Given the description of an element on the screen output the (x, y) to click on. 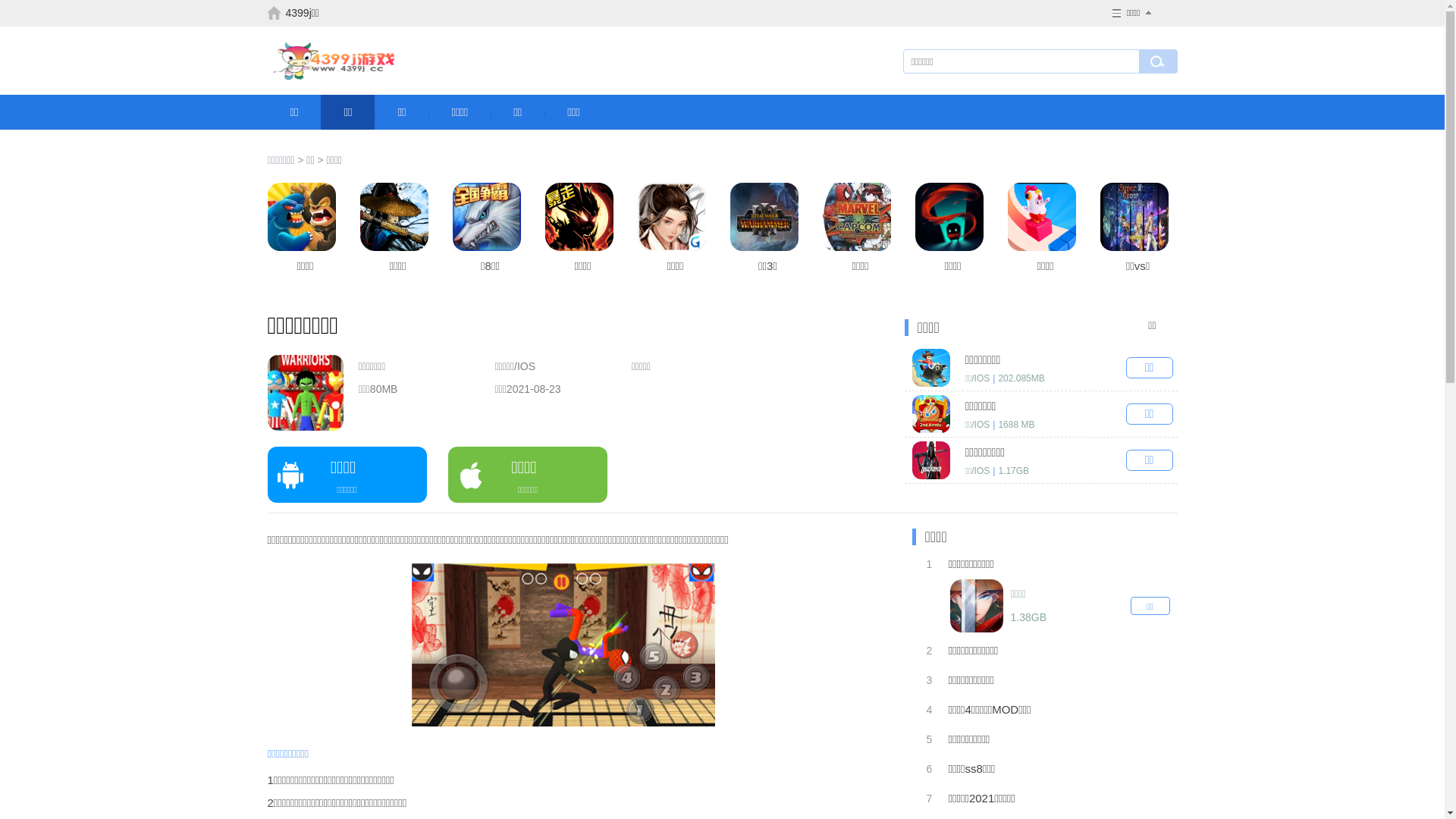
75b8dbb9ab32ddda7c7b0a6115f81381.png Element type: hover (562, 644)
